Given the description of an element on the screen output the (x, y) to click on. 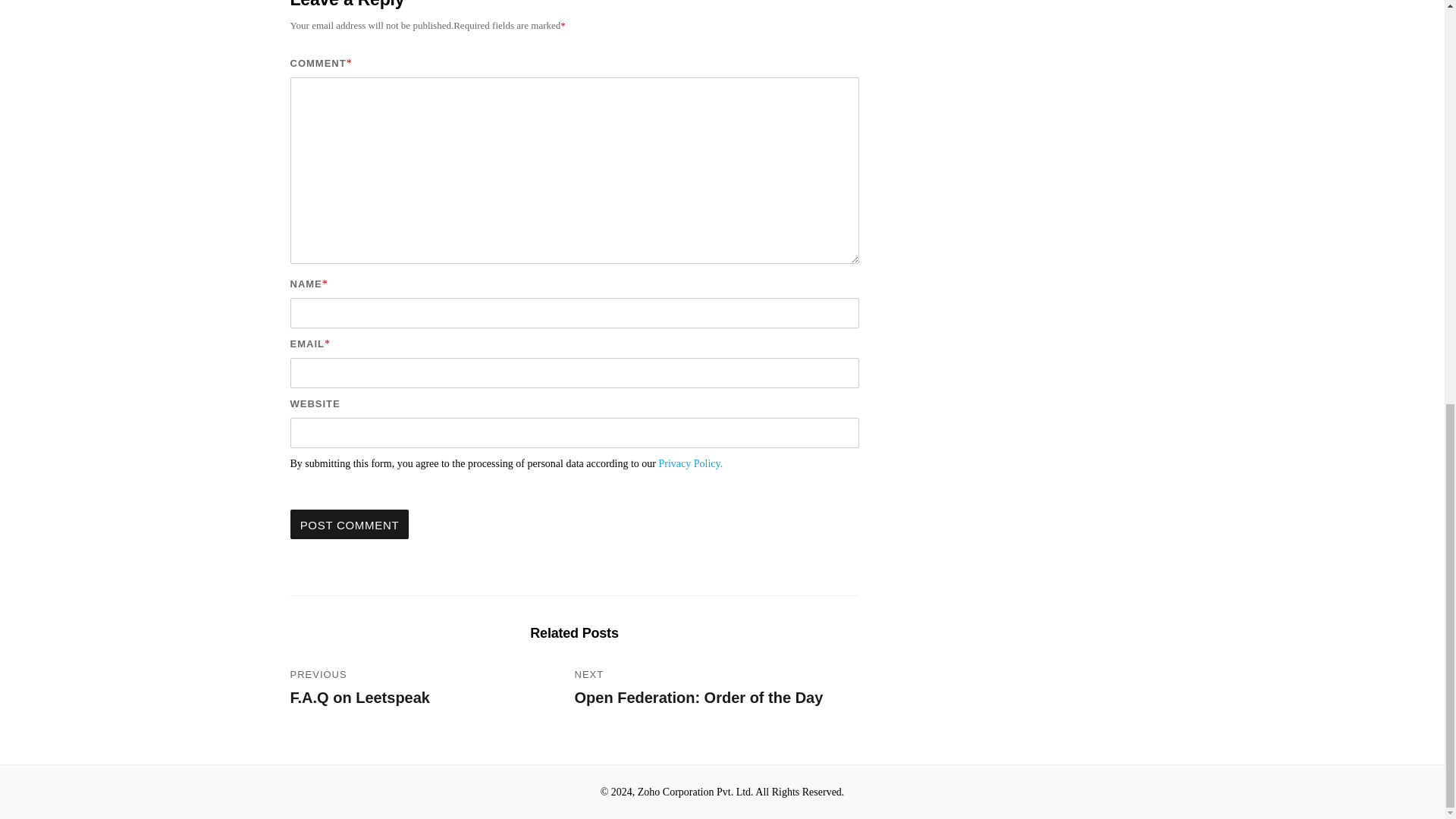
Post Comment (349, 523)
Post Comment (349, 523)
Privacy Policy. (691, 463)
